Given the description of an element on the screen output the (x, y) to click on. 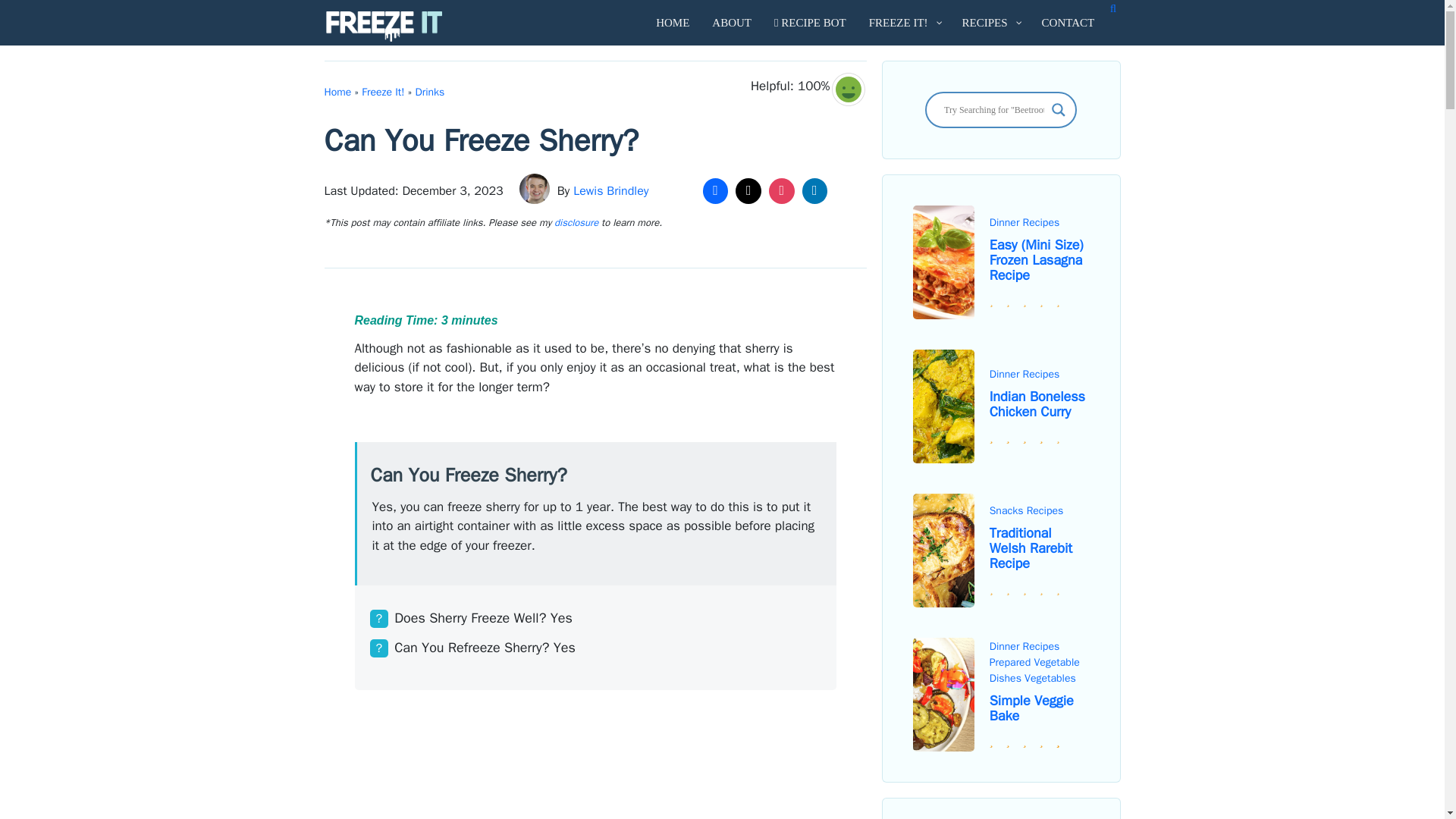
X (748, 191)
Freeze It (386, 26)
Linkedin (814, 191)
Freeze It (383, 26)
CONTACT (1068, 22)
RECIPES (990, 22)
Facebook (715, 191)
Drinks (429, 91)
Home (338, 91)
FREEZE IT! (903, 22)
ABOUT (731, 22)
Instagram (781, 191)
HOME (672, 22)
Freeze It! (382, 91)
